Given the description of an element on the screen output the (x, y) to click on. 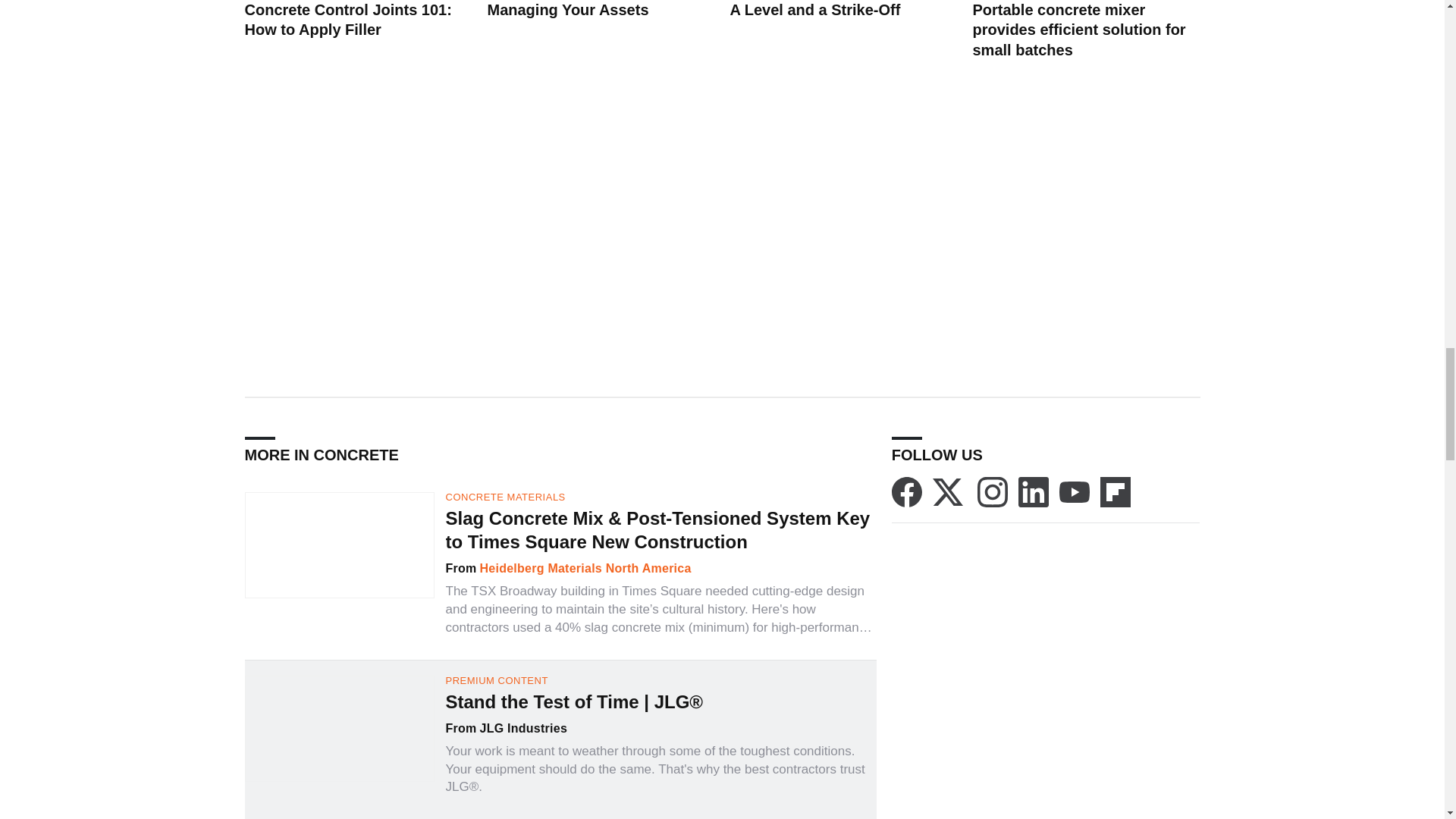
YouTube icon (1074, 491)
Facebook icon (906, 491)
Flipboard icon (1115, 491)
Instagram icon (991, 491)
Twitter X icon (947, 491)
LinkedIn icon (1032, 491)
